Given the description of an element on the screen output the (x, y) to click on. 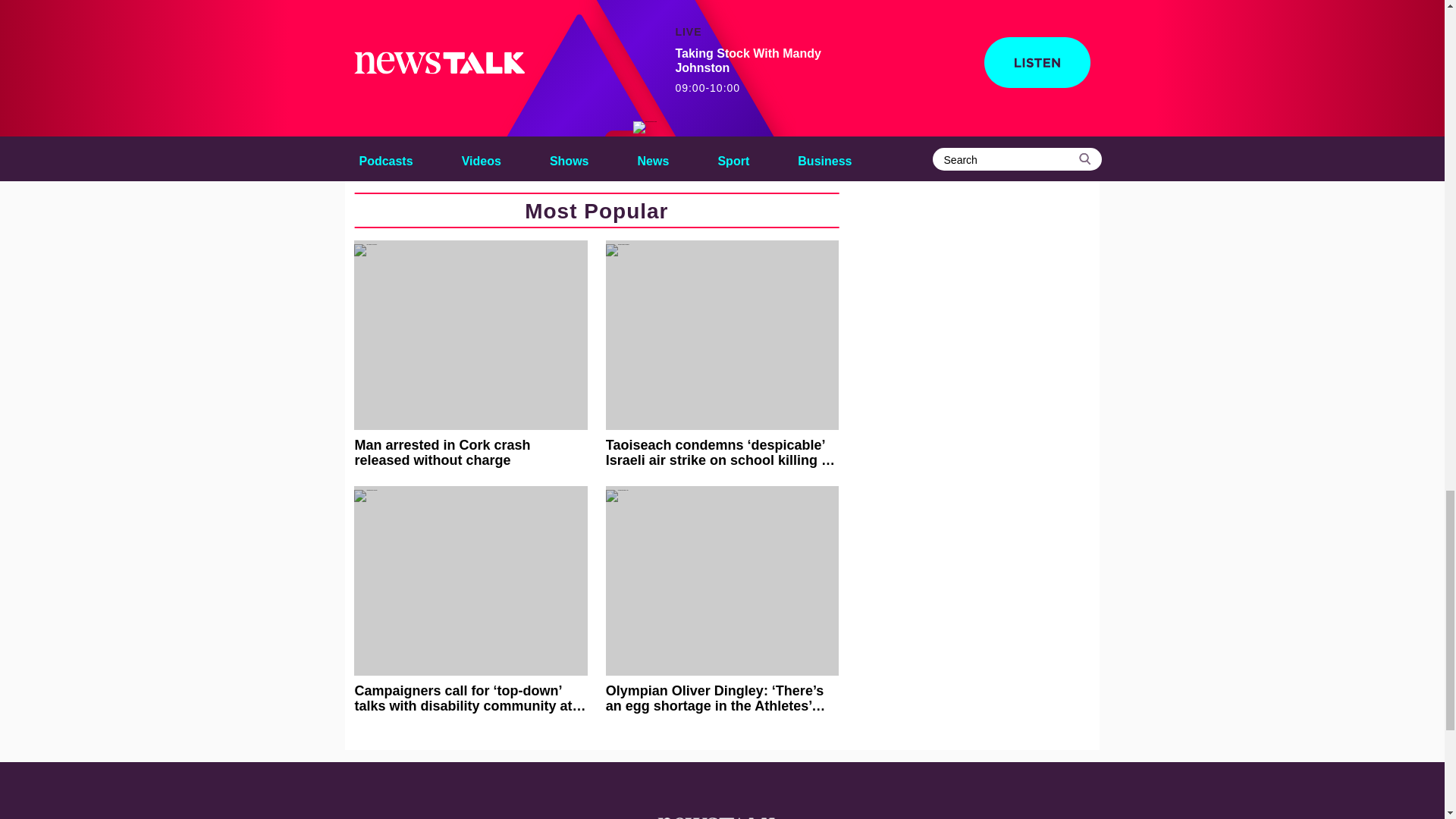
KILDARE (605, 112)
NIALL MORRISSEY (752, 112)
M7 (666, 112)
ROADWORKS (395, 143)
Man arrested in Cork crash released without charge  (469, 353)
CONOR FAUGHNAN (502, 112)
COMMUTER (391, 112)
